Given the description of an element on the screen output the (x, y) to click on. 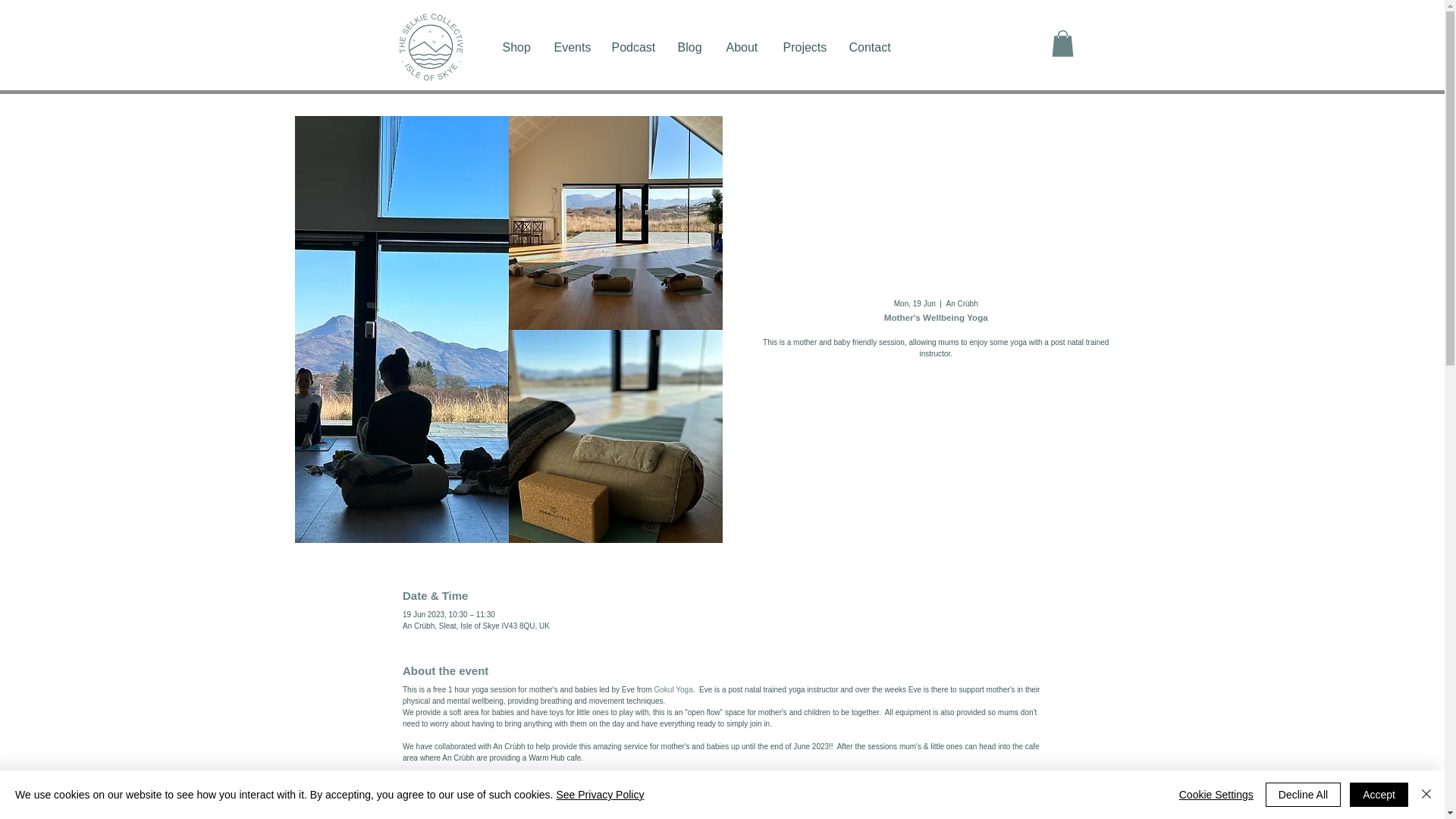
Gokul Yoga (673, 689)
Blog (689, 47)
Decline All (1302, 794)
Shop (517, 47)
Podcast (632, 47)
Accept (1378, 794)
See Privacy Policy (599, 794)
Projects (804, 47)
Events (571, 47)
About (742, 47)
